Given the description of an element on the screen output the (x, y) to click on. 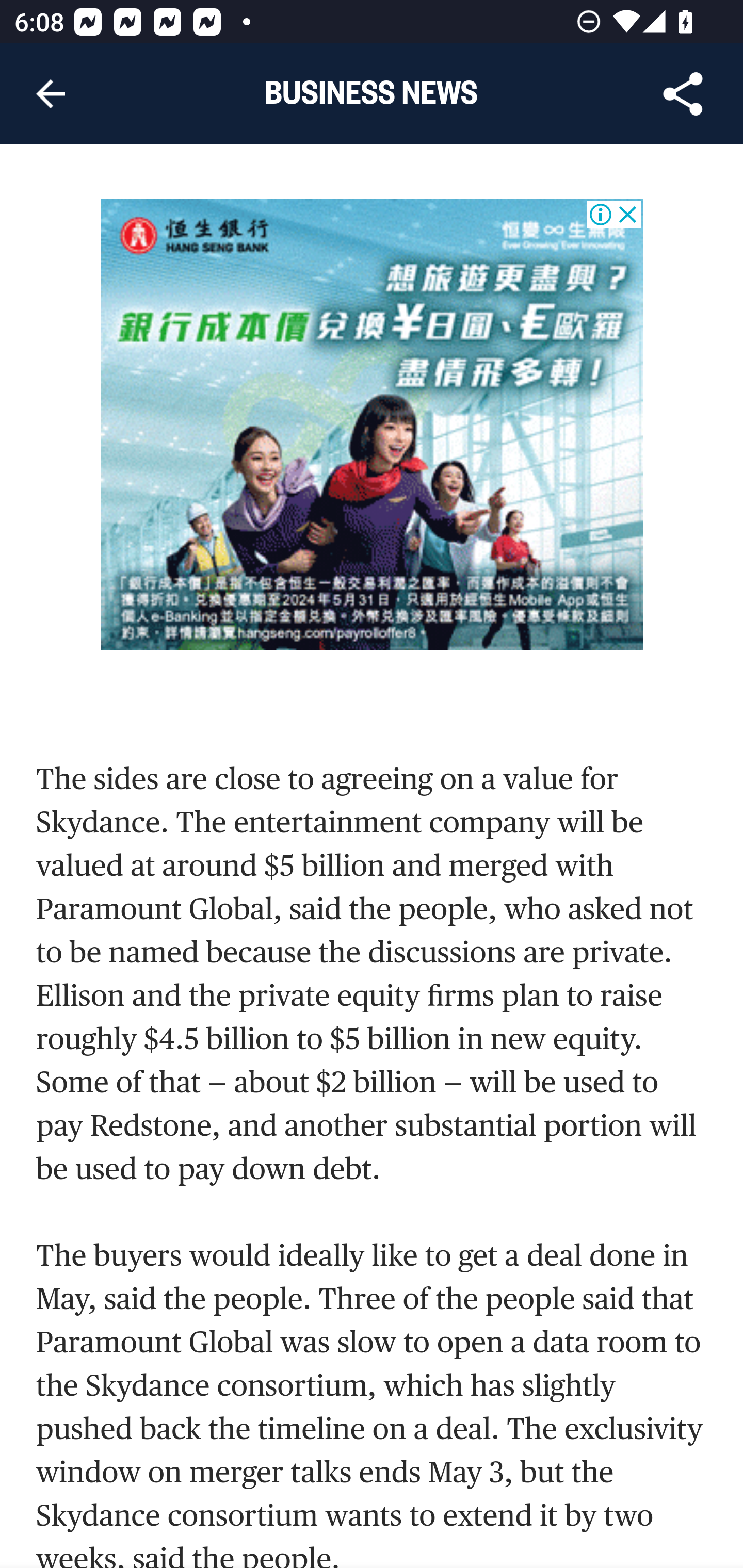
Navigate up (50, 93)
Share Article, button (683, 94)
Advertisement (372, 426)
